Given the description of an element on the screen output the (x, y) to click on. 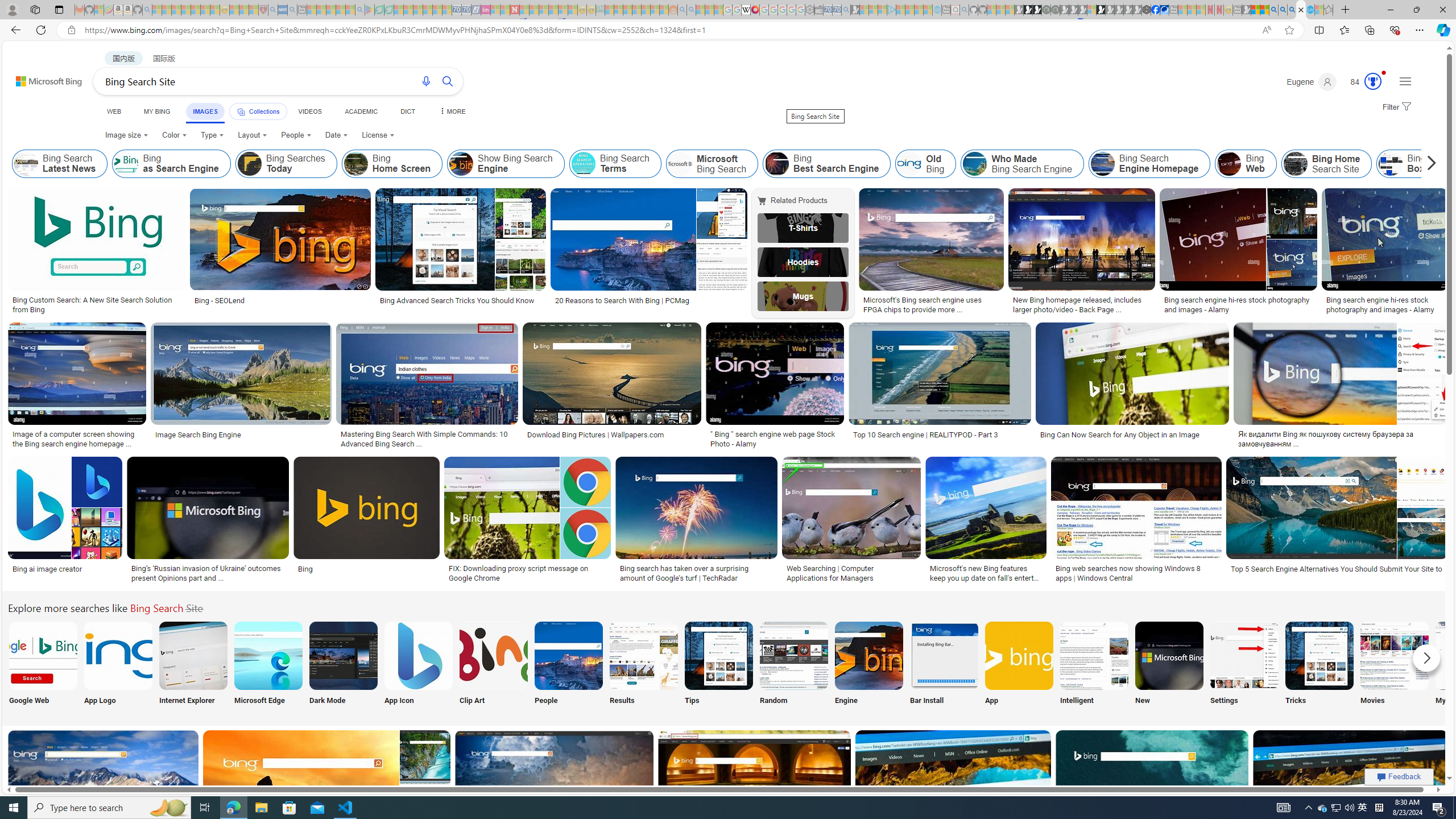
Tips (718, 665)
Bing Search Site - Search Images (1300, 9)
Web Searching | Computer Applications for ManagersSave (853, 521)
Random (794, 665)
Bing Search Tricks (1319, 654)
Animation (1383, 72)
